Given the description of an element on the screen output the (x, y) to click on. 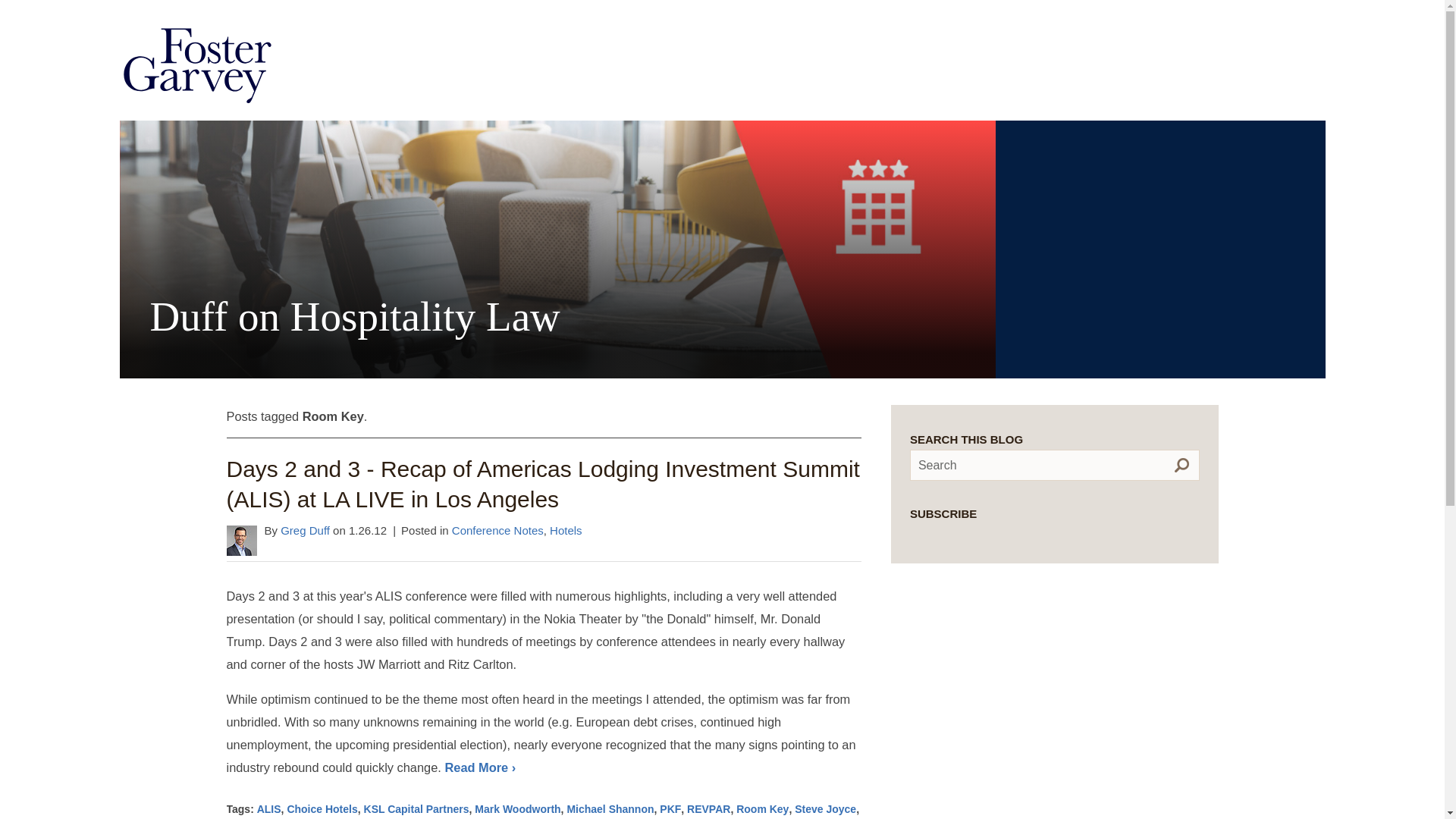
Michael Shannon (609, 808)
KSL Capital Partners (416, 808)
Hotels (566, 530)
Choice Hotels (321, 808)
Steve Joyce (825, 808)
Room Key (762, 808)
REVPAR (708, 808)
Conference Notes (497, 530)
Greg Duff (305, 530)
Mark Woodworth (517, 808)
PKF (670, 808)
ALIS (269, 808)
